Given the description of an element on the screen output the (x, y) to click on. 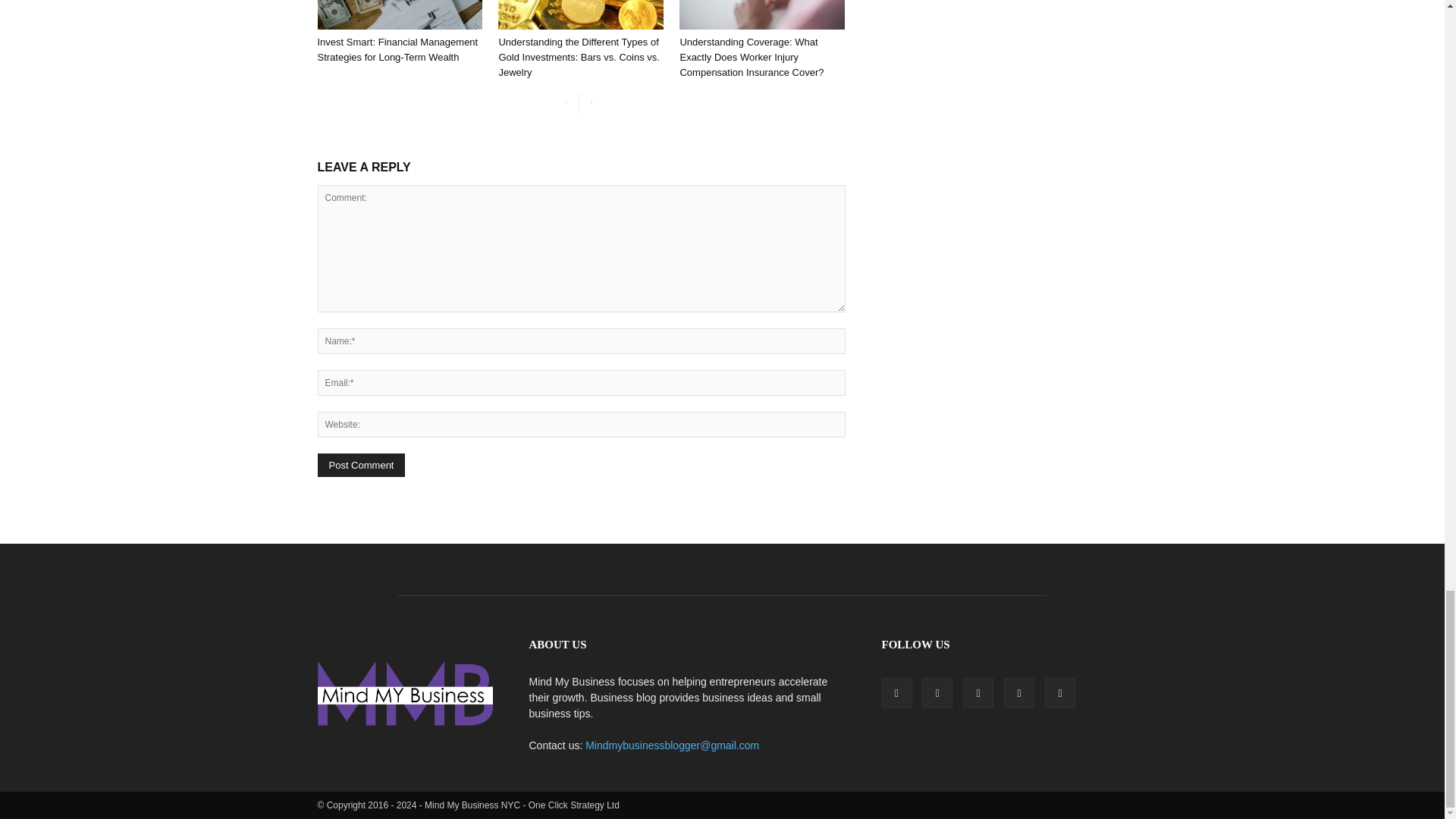
Post Comment (360, 464)
